Given the description of an element on the screen output the (x, y) to click on. 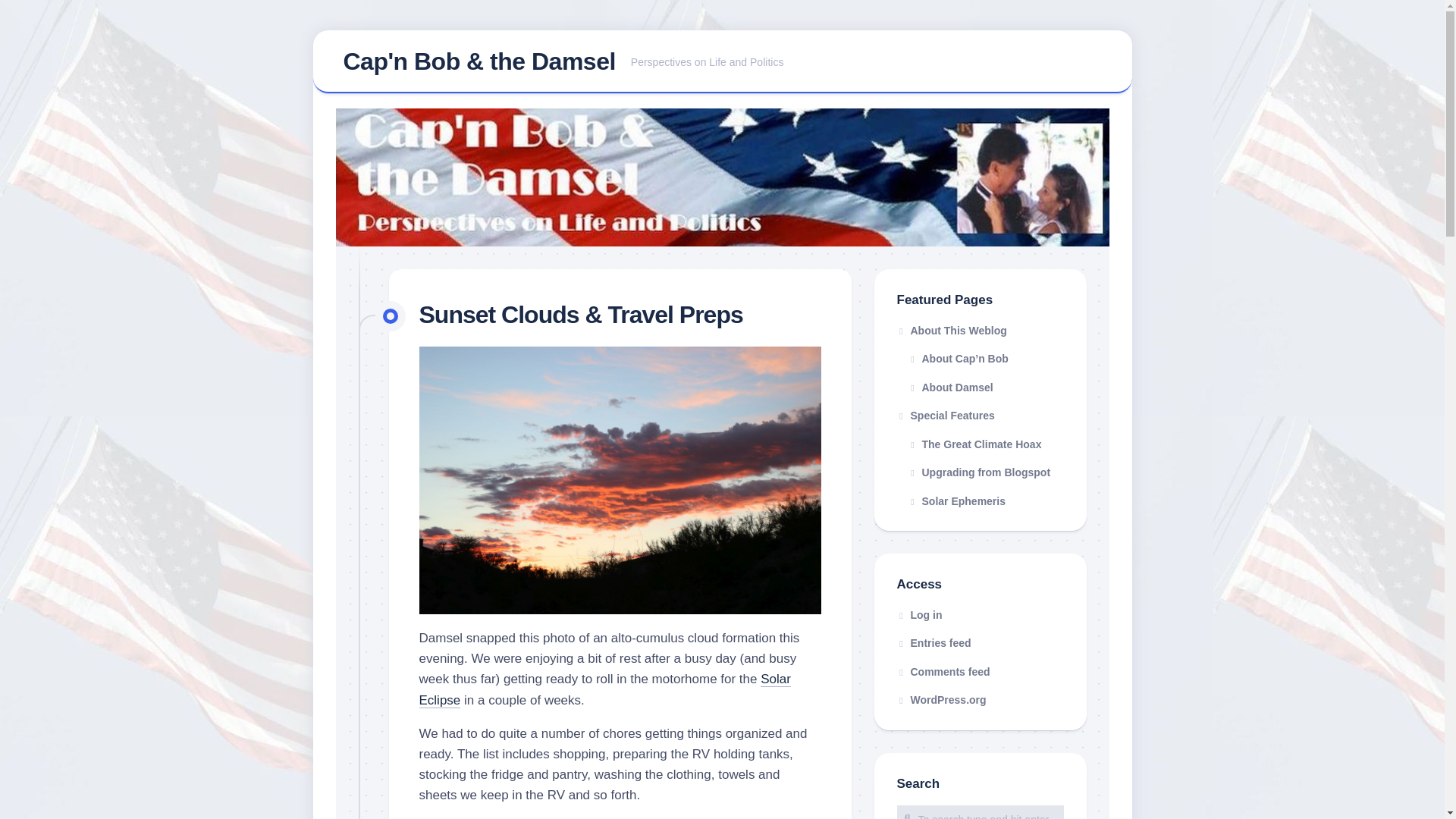
Special Features (979, 416)
Solar Ephemeris (979, 501)
To search type and hit enter (979, 812)
Entries feed (933, 643)
WordPress.org (940, 699)
Upgrading from Blogspot (979, 472)
To search type and hit enter (979, 812)
Log in (919, 614)
About Damsel (979, 387)
The Great Climate Hoax (979, 444)
Comments feed (943, 671)
Solar Eclipse (604, 688)
About This Weblog (979, 330)
